Given the description of an element on the screen output the (x, y) to click on. 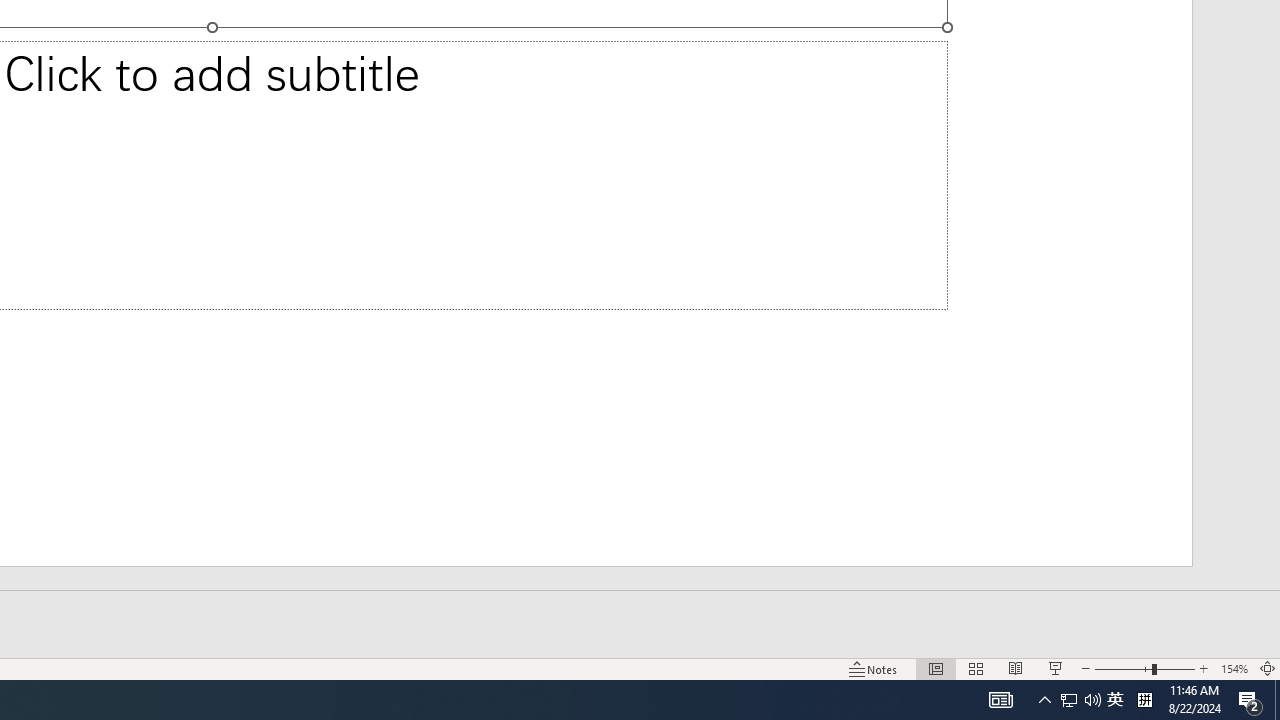
Zoom 154% (1234, 668)
